Given the description of an element on the screen output the (x, y) to click on. 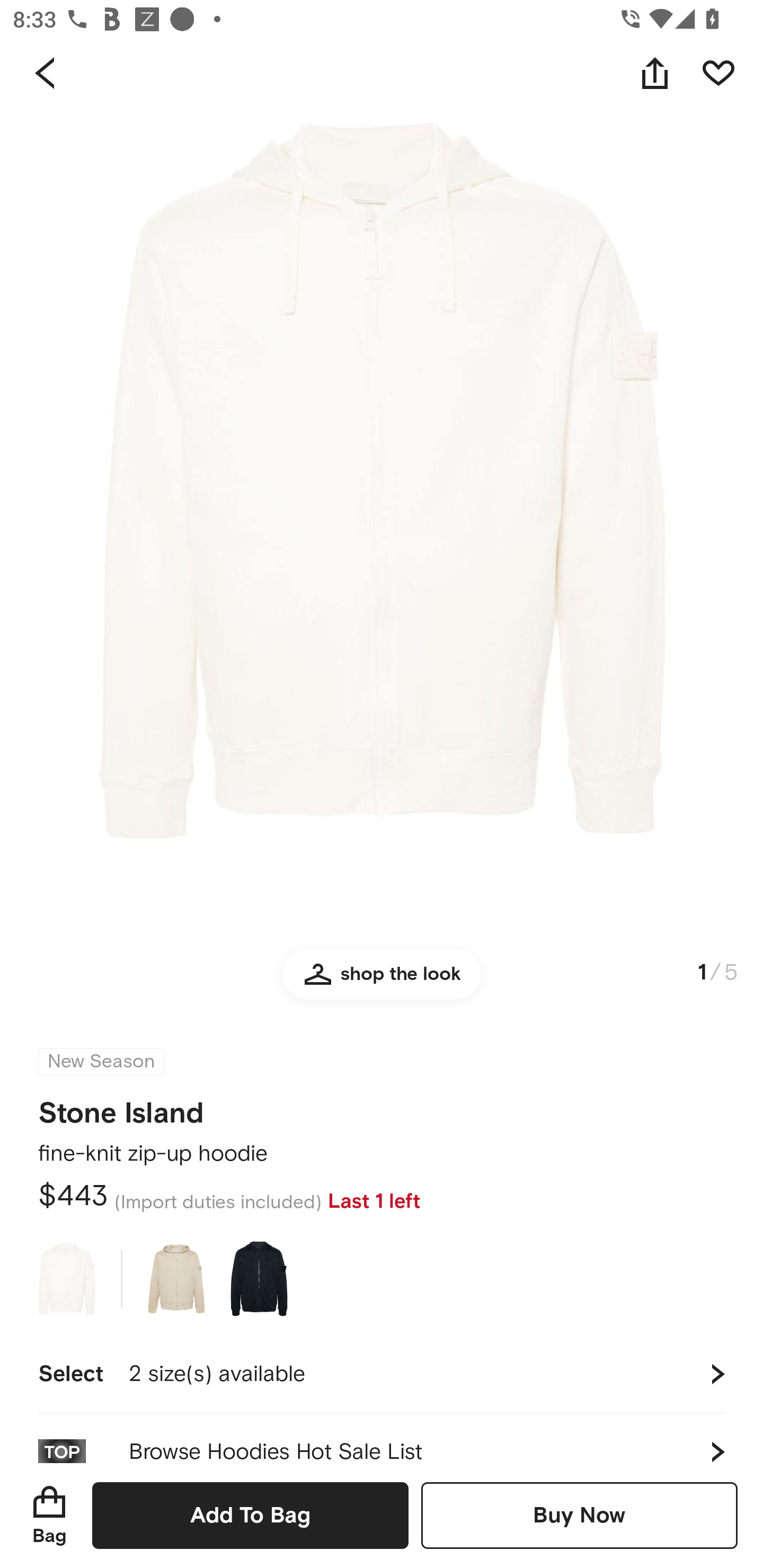
shop the look (381, 982)
Stone Island (120, 1107)
Select 2 size(s) available (381, 1373)
Browse Hoodies Hot Sale List (381, 1438)
Bag (49, 1515)
Add To Bag (250, 1515)
Buy Now (579, 1515)
